Given the description of an element on the screen output the (x, y) to click on. 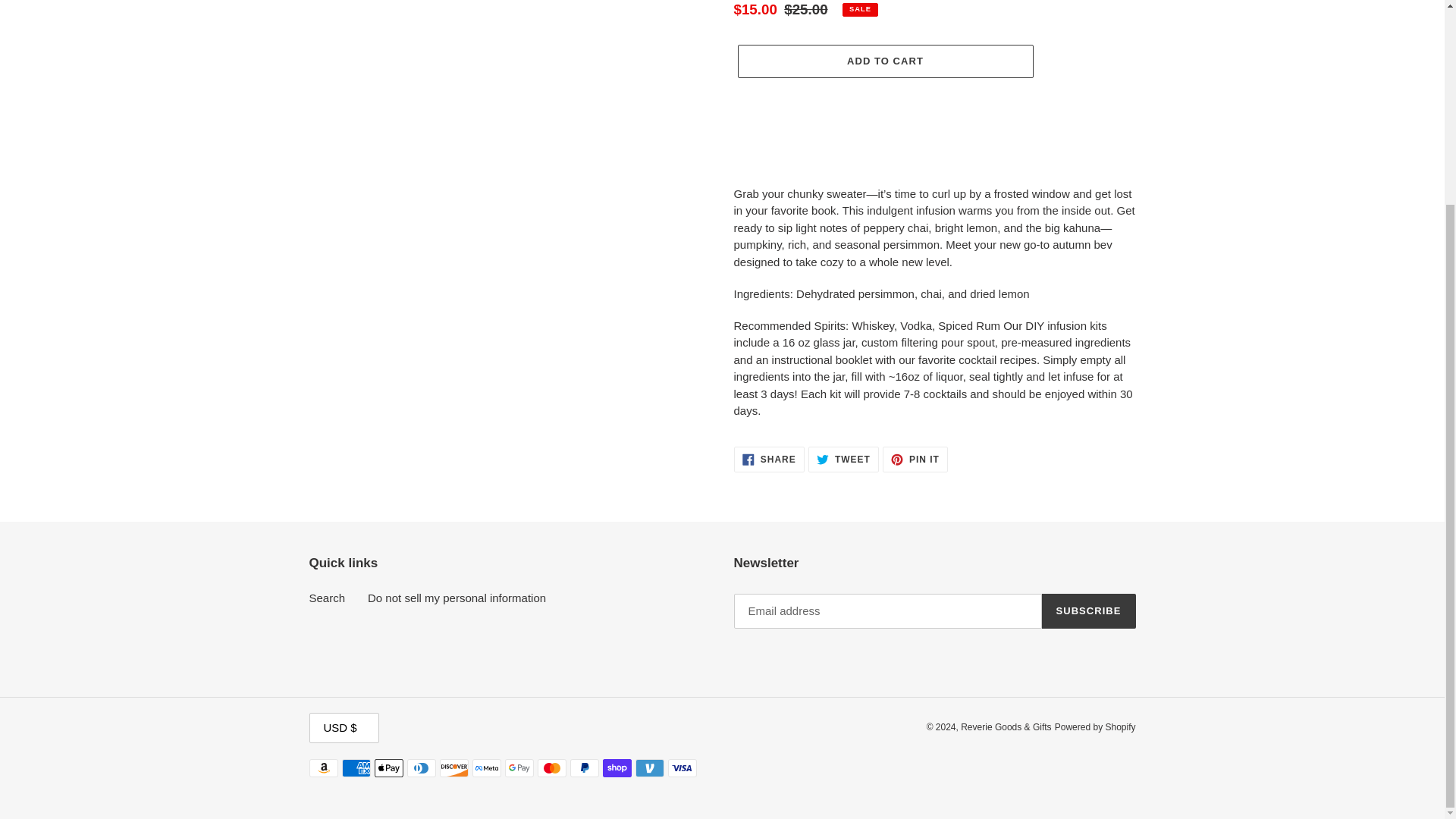
Do not sell my personal information (457, 597)
Search (769, 458)
SUBSCRIBE (843, 458)
ADD TO CART (327, 597)
